Given the description of an element on the screen output the (x, y) to click on. 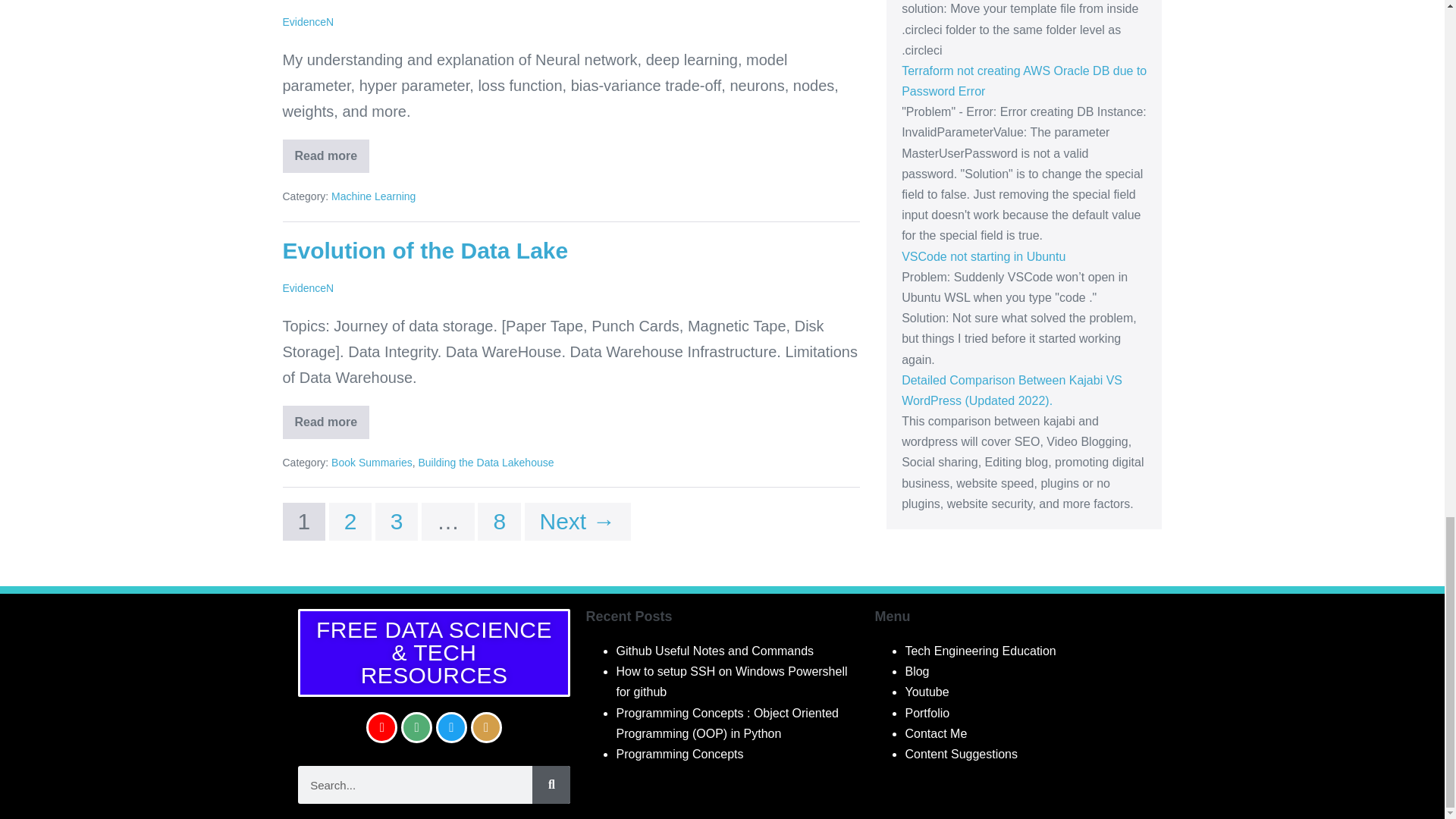
View all posts by EvidenceN (307, 21)
Evolution of the Data Lake (424, 250)
View all posts by EvidenceN (307, 287)
